Given the description of an element on the screen output the (x, y) to click on. 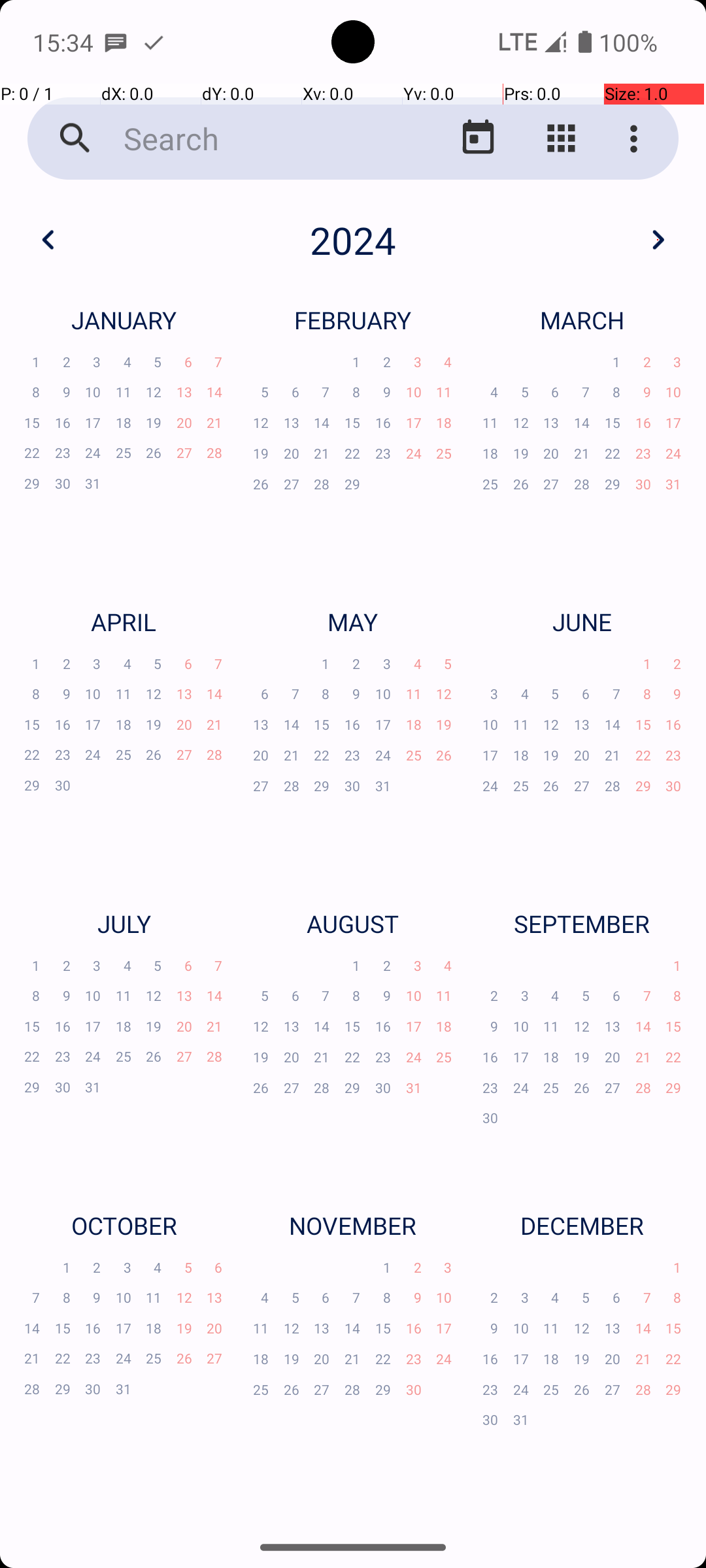
JANUARY Element type: android.widget.TextView (123, 319)
FEBRUARY Element type: android.widget.TextView (352, 319)
MARCH Element type: android.widget.TextView (582, 319)
APRIL Element type: android.widget.TextView (123, 621)
MAY Element type: android.widget.TextView (352, 621)
JUNE Element type: android.widget.TextView (582, 621)
JULY Element type: android.widget.TextView (123, 923)
AUGUST Element type: android.widget.TextView (352, 923)
SEPTEMBER Element type: android.widget.TextView (582, 923)
NOVEMBER Element type: android.widget.TextView (352, 1224)
DECEMBER Element type: android.widget.TextView (582, 1224)
